Given the description of an element on the screen output the (x, y) to click on. 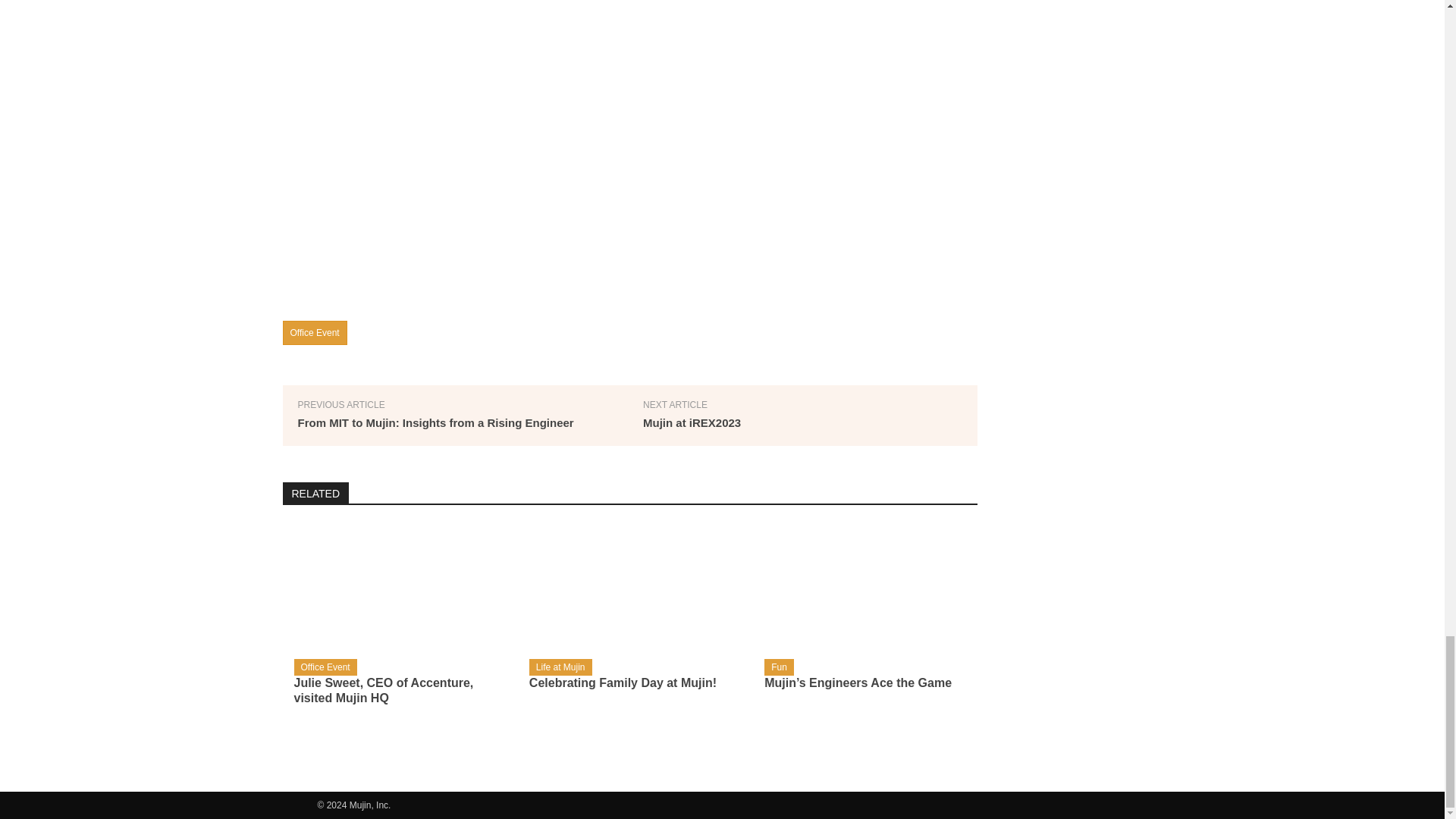
Julie Sweet, CEO of Accenture, visited Mujin HQ (393, 596)
Celebrating Family Day at Mujin! (629, 596)
Life at Mujin (560, 667)
From MIT to Mujin: Insights from a Rising Engineer (435, 422)
Julie Sweet, CEO of Accenture, visited Mujin HQ (384, 690)
Celebrating Family Day at Mujin! (622, 682)
Julie Sweet, CEO of Accenture, visited Mujin HQ (384, 690)
Office Event (314, 332)
Mujin at iREX2023 (692, 422)
Office Event (325, 667)
